Given the description of an element on the screen output the (x, y) to click on. 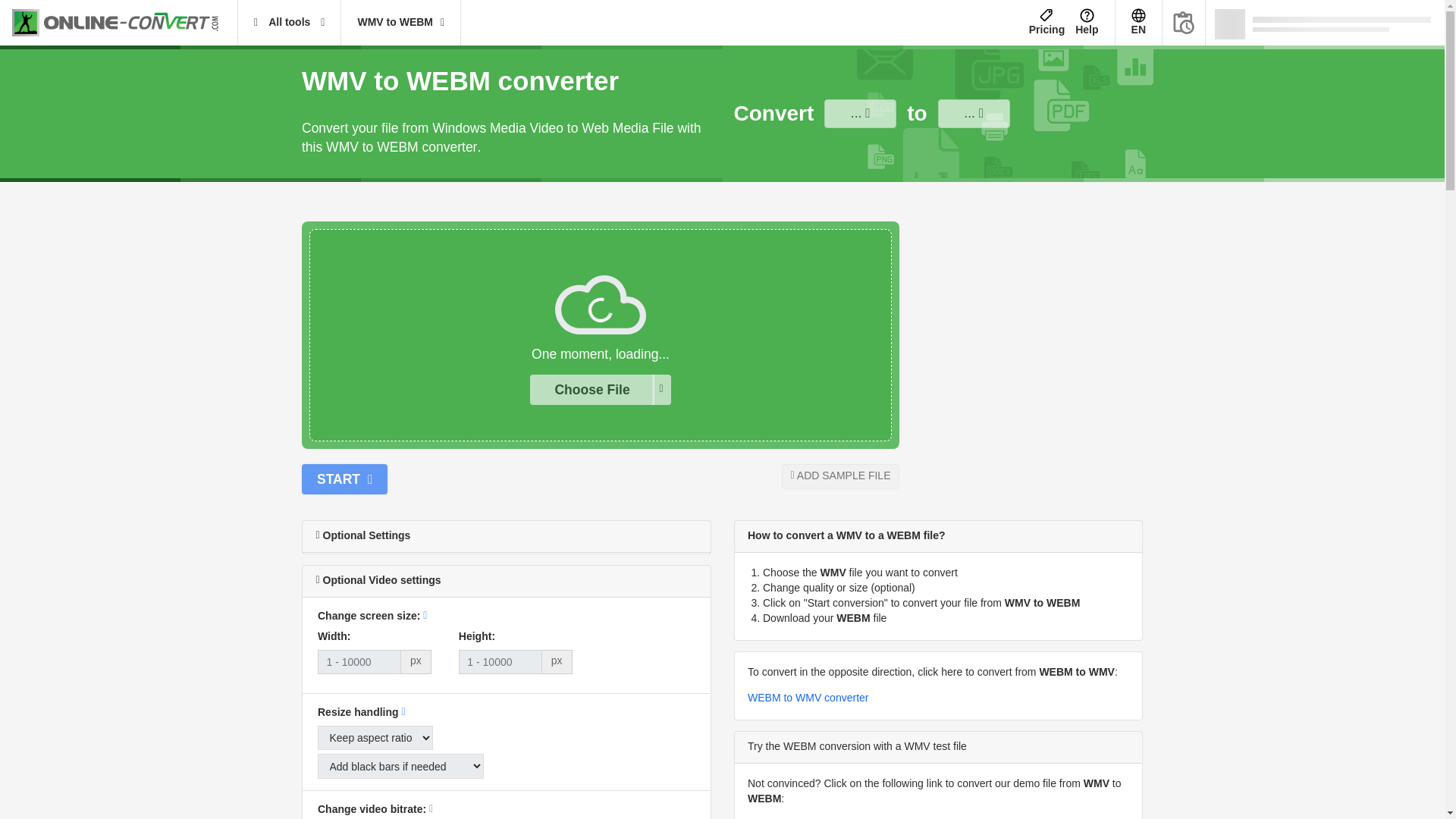
All tools (289, 22)
Free Online converter tool (124, 22)
WMV to WEBM (400, 22)
